Given the description of an element on the screen output the (x, y) to click on. 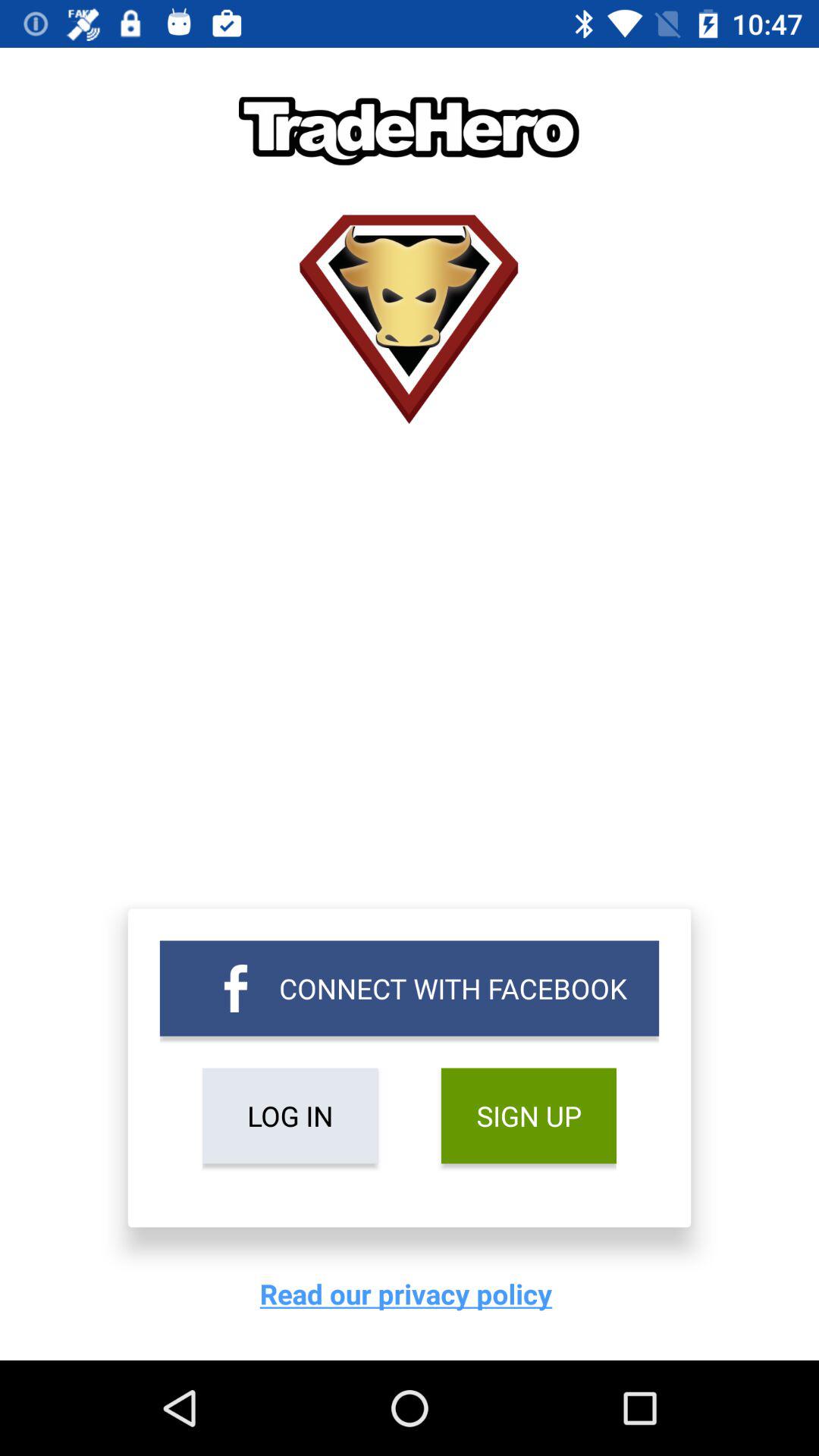
press icon next to the sign up icon (289, 1115)
